Given the description of an element on the screen output the (x, y) to click on. 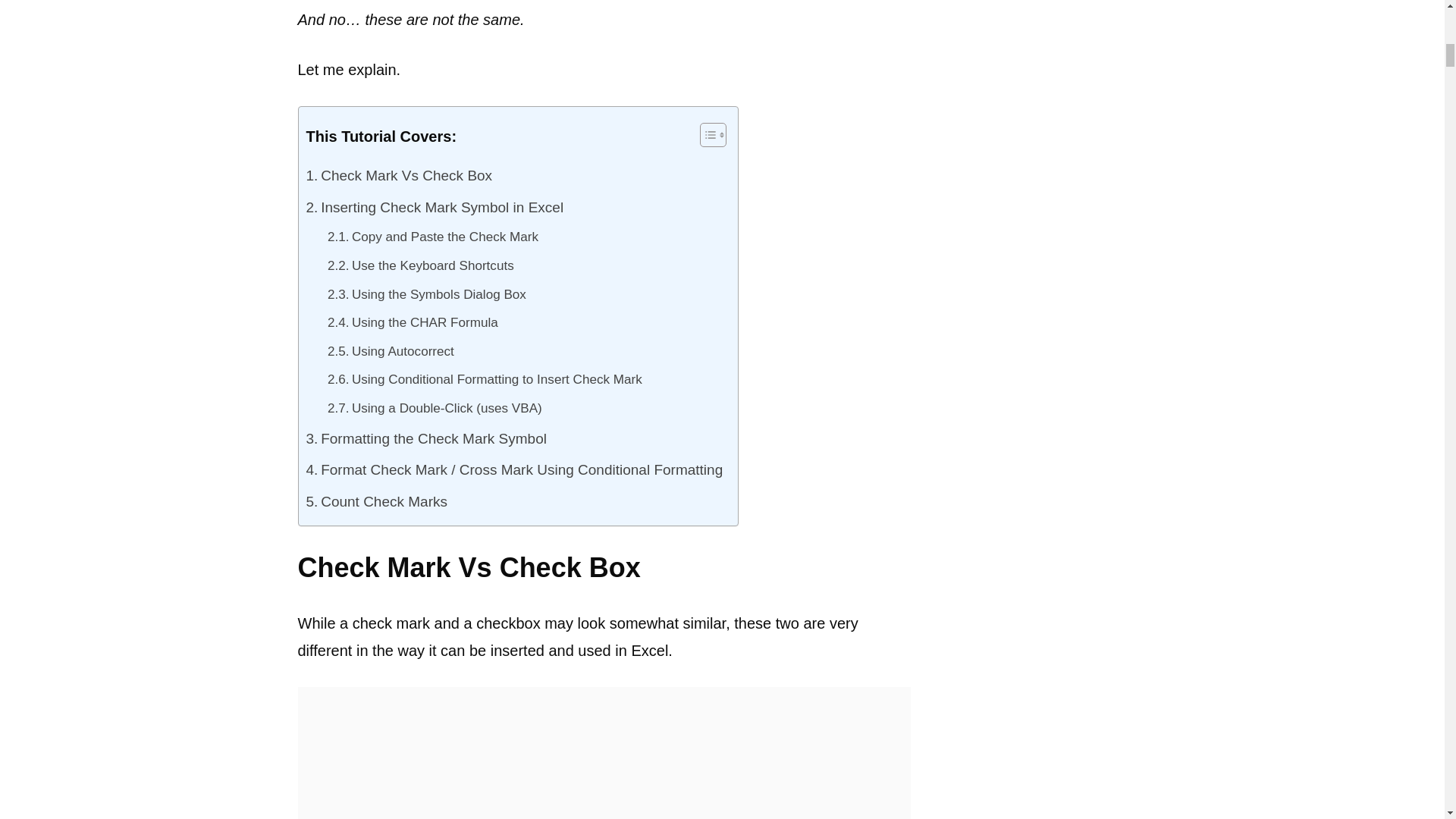
Use the Keyboard Shortcuts (420, 265)
Using Conditional Formatting to Insert Check Mark (484, 379)
Check Mark Vs Check Box (399, 175)
Copy and Paste the Check Mark (432, 236)
Using the CHAR Formula (412, 322)
Use the Keyboard Shortcuts (420, 265)
Copy and Paste the Check Mark (432, 236)
Check Mark Vs Check Box (399, 175)
Inserting Check Mark Symbol in Excel (434, 207)
Using the Symbols Dialog Box (426, 294)
